Given the description of an element on the screen output the (x, y) to click on. 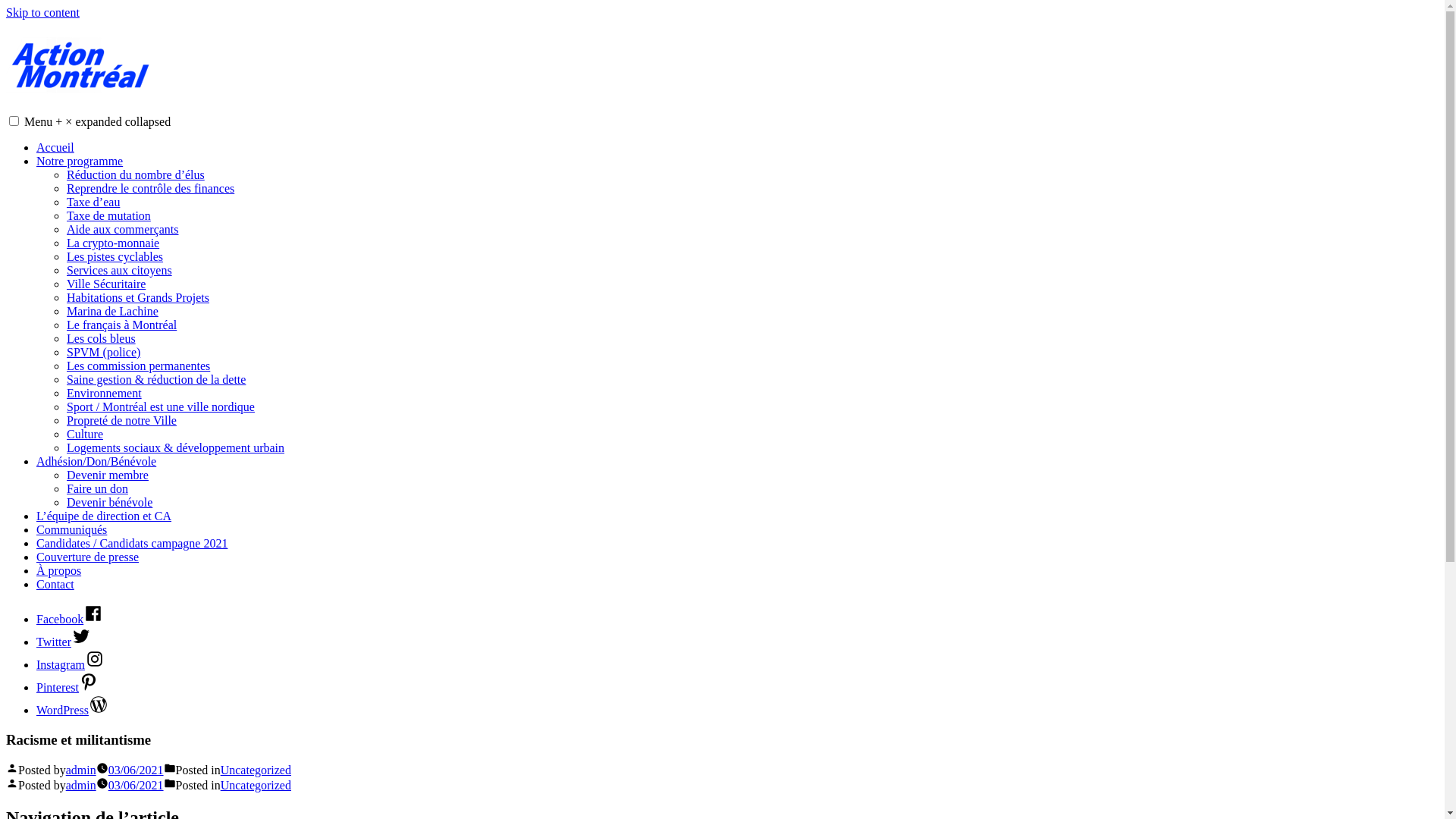
Twitter Element type: text (63, 641)
Devenir membre Element type: text (107, 474)
Les commission permanentes Element type: text (138, 365)
Habitations et Grands Projets Element type: text (137, 297)
SPVM (police) Element type: text (103, 351)
Pinterest Element type: text (67, 686)
Les cols bleus Element type: text (100, 338)
Uncategorized Element type: text (255, 769)
Faire un don Element type: text (97, 488)
Contact Element type: text (55, 583)
Environnement Element type: text (103, 392)
WordPress Element type: text (72, 709)
Taxe de mutation Element type: text (108, 215)
Culture Element type: text (84, 433)
admin Element type: text (80, 784)
Notre programme Element type: text (79, 160)
Marina de Lachine Element type: text (112, 310)
Skip to content Element type: text (42, 12)
03/06/2021 Element type: text (135, 784)
Accueil Element type: text (55, 147)
Services aux citoyens Element type: text (119, 269)
Couverture de presse Element type: text (87, 556)
Uncategorized Element type: text (255, 784)
Les pistes cyclables Element type: text (114, 256)
admin Element type: text (80, 769)
Facebook Element type: text (69, 618)
Instagram Element type: text (70, 664)
03/06/2021 Element type: text (135, 769)
La crypto-monnaie Element type: text (112, 242)
Candidates / Candidats campagne 2021 Element type: text (131, 542)
